Given the description of an element on the screen output the (x, y) to click on. 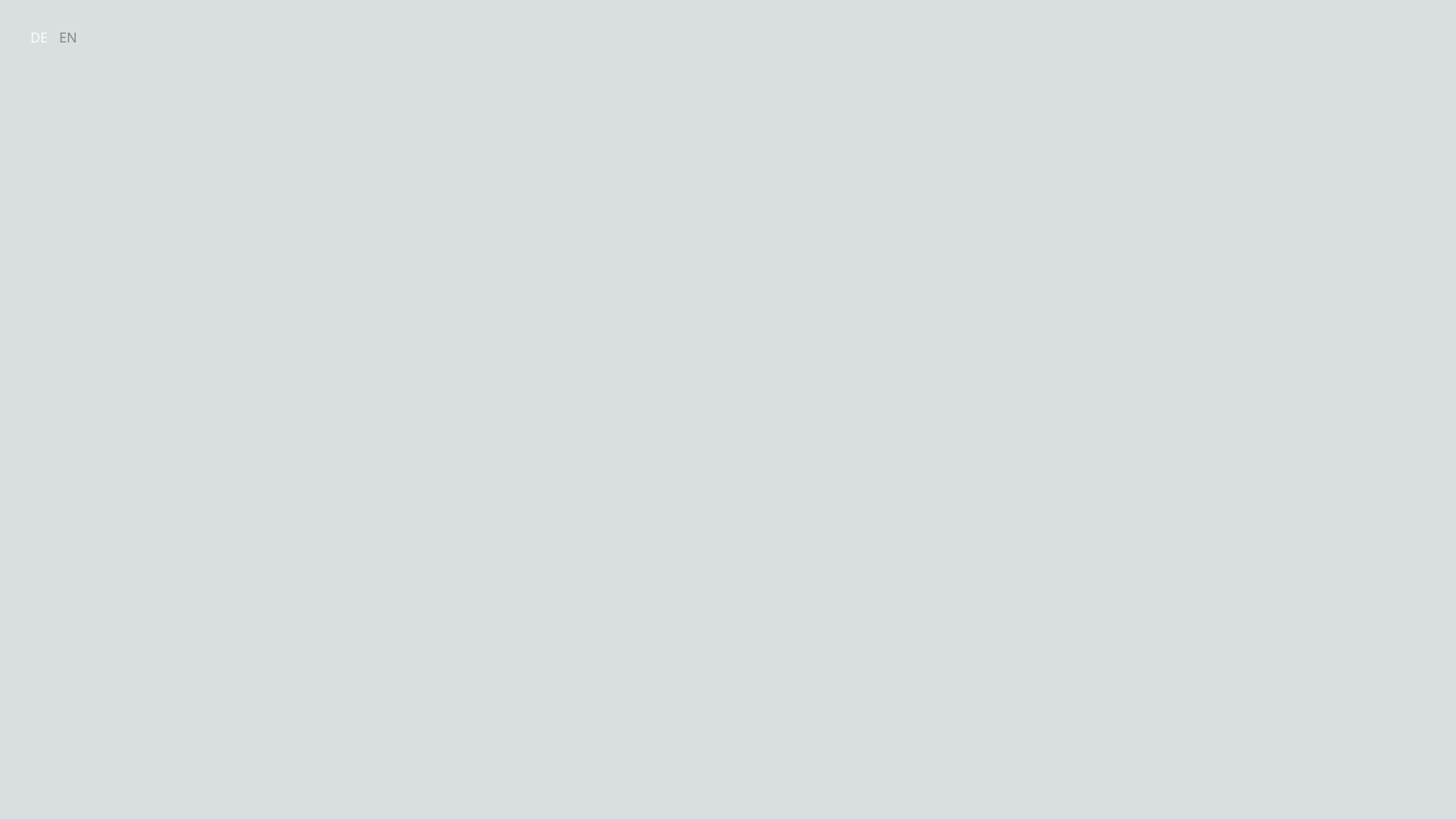
DE Element type: text (42, 37)
EN Element type: text (71, 37)
